Given the description of an element on the screen output the (x, y) to click on. 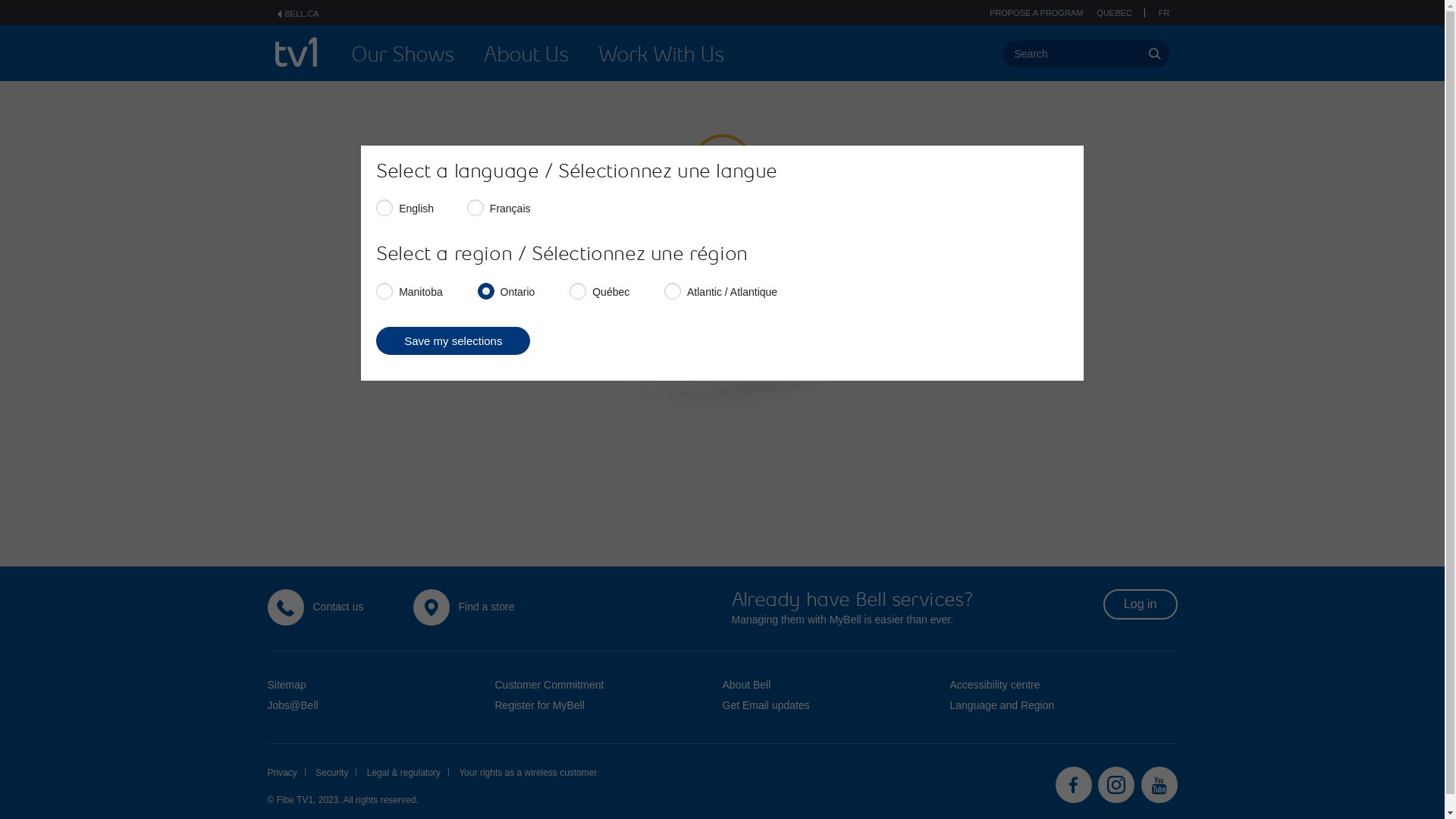
Perform Search Element type: hover (1154, 53)
Contact us Element type: text (337, 607)
Customer Commitment Element type: text (548, 684)
Save my selections Element type: text (453, 340)
Sitemap Element type: text (285, 684)
Search Element type: hover (1085, 53)
Your rights as a wireless customer Element type: text (527, 772)
About Us Element type: text (525, 54)
Work With Us Element type: text (660, 54)
Register for MyBell Element type: text (538, 704)
Jobs@Bell Element type: text (291, 704)
QUEBEC Element type: text (1120, 12)
Find a store Element type: text (486, 607)
Atlantic Element type: hover (669, 287)
English Element type: hover (380, 204)
Accessibility centre Element type: text (994, 684)
BELL.CA Element type: text (296, 13)
PROPOSE A PROGRAM Element type: text (1035, 12)
Manitoba Element type: hover (380, 287)
Quebec Element type: hover (574, 287)
Log in Element type: text (1140, 604)
About Bell Element type: text (745, 684)
FR Element type: text (1164, 12)
Instagram Element type: hover (1116, 784)
Ontario Element type: hover (482, 287)
Legal & regulatory Element type: text (407, 772)
Security Element type: text (335, 772)
Get Email updates Element type: text (765, 704)
Language and Region Element type: text (1001, 704)
Our Shows Element type: text (402, 54)
Youtube Element type: hover (1158, 784)
Privacy Element type: text (285, 772)
